Given the description of an element on the screen output the (x, y) to click on. 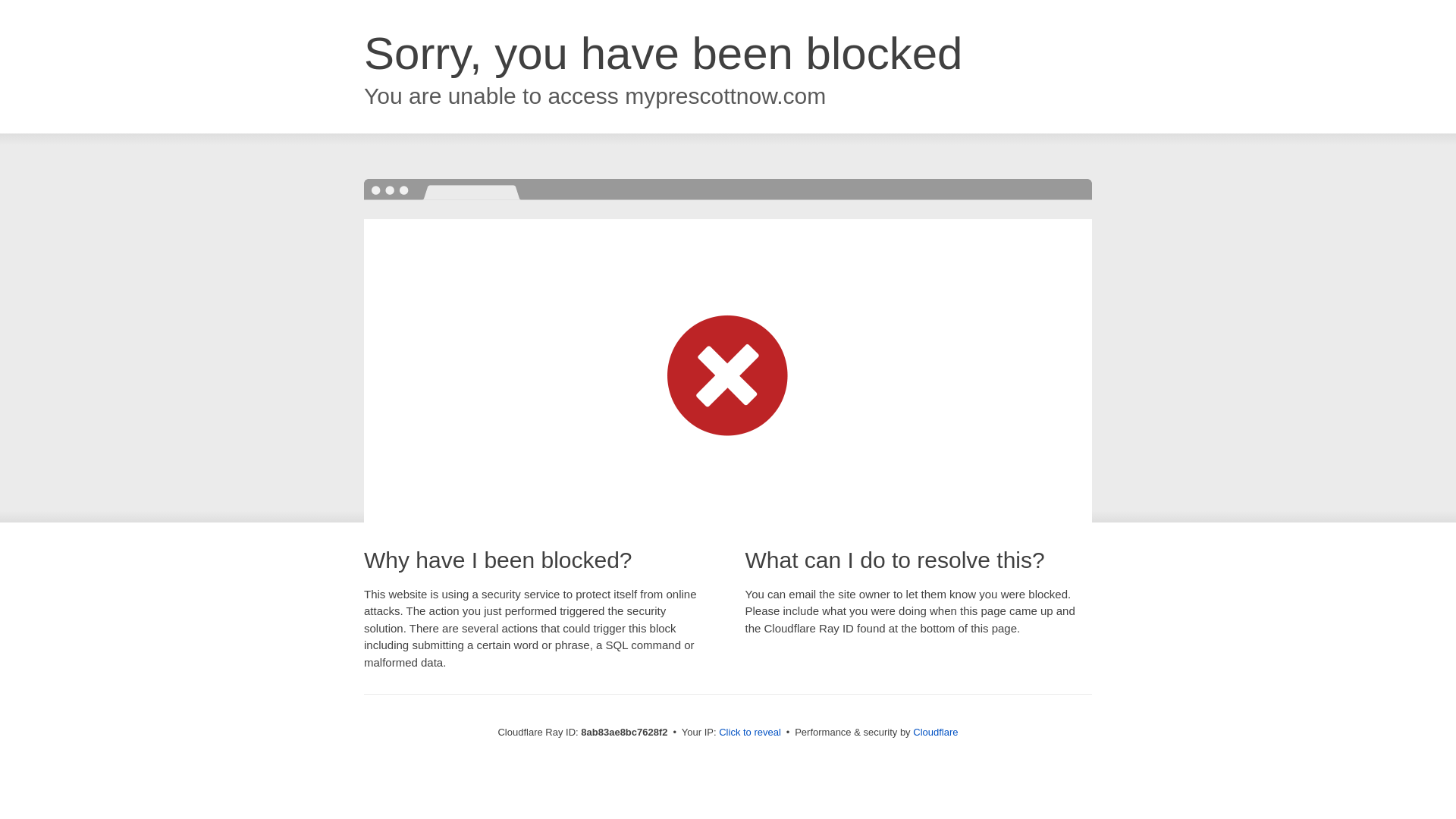
Cloudflare (935, 731)
Click to reveal (749, 732)
